Given the description of an element on the screen output the (x, y) to click on. 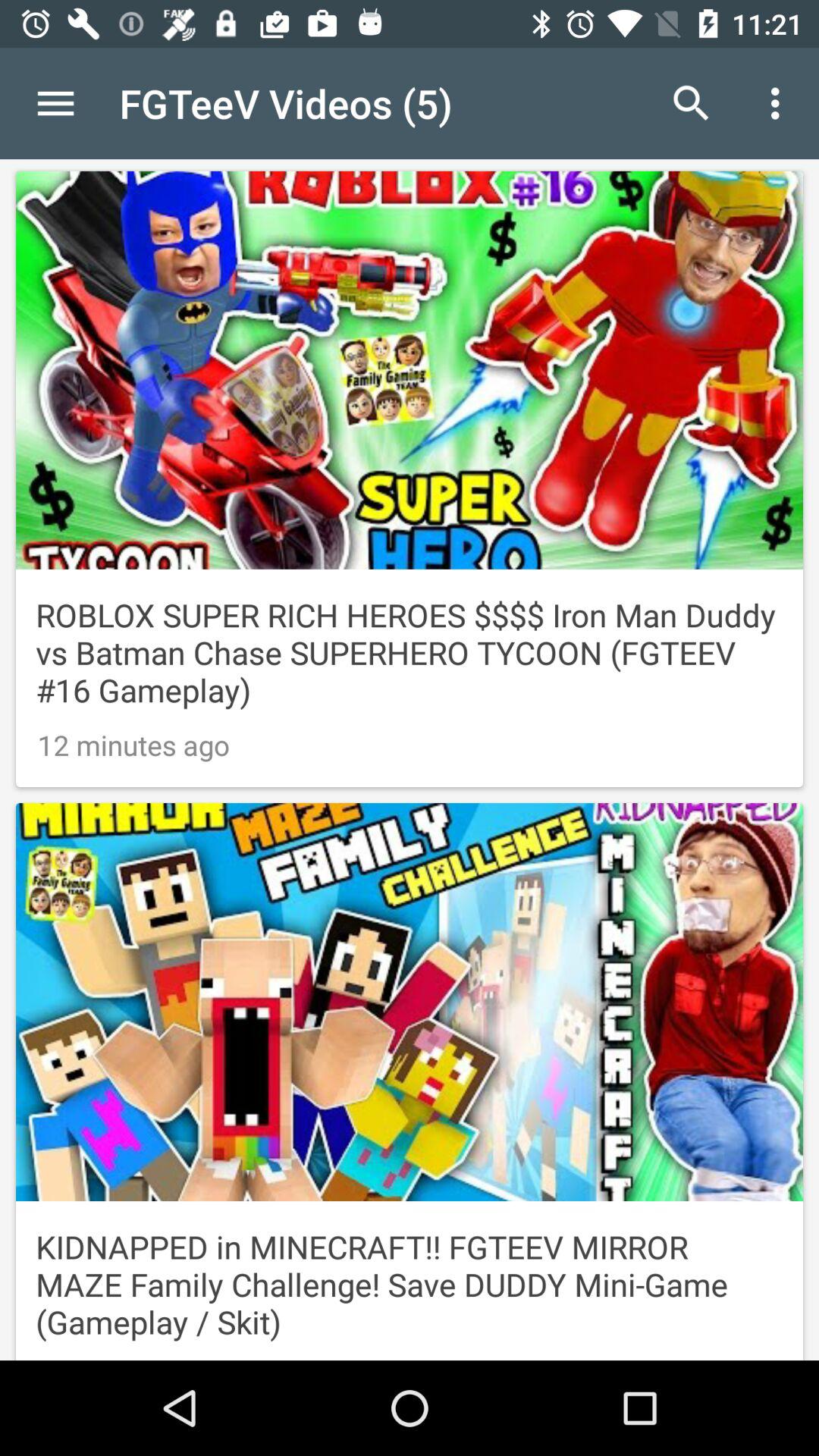
open icon next to fgteev videos (5) icon (691, 103)
